Given the description of an element on the screen output the (x, y) to click on. 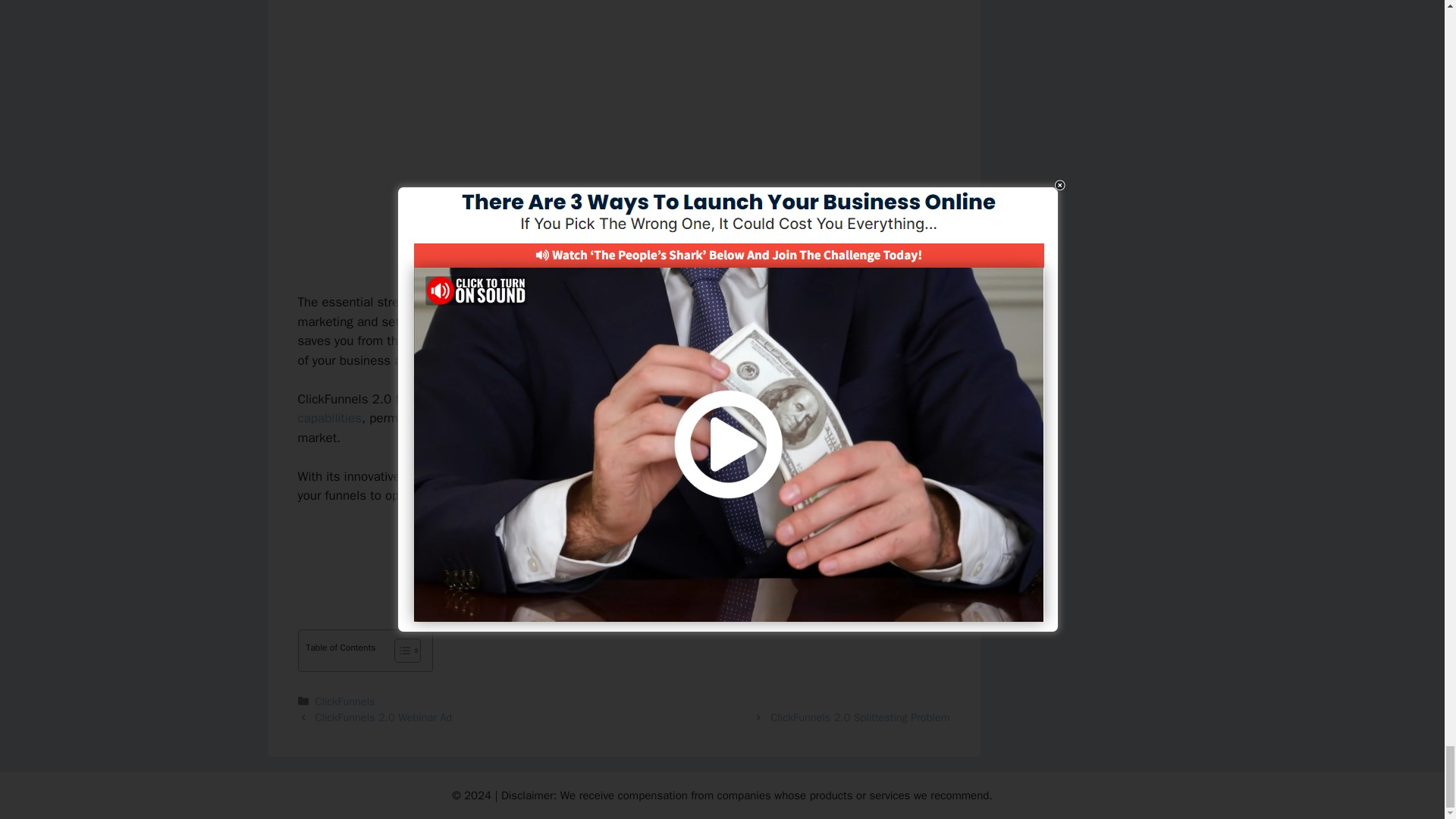
analytics and tracking (464, 476)
data driven decisions (733, 476)
Activate Your ClickFunnels 2.0 Free Trial Now (623, 547)
